Given the description of an element on the screen output the (x, y) to click on. 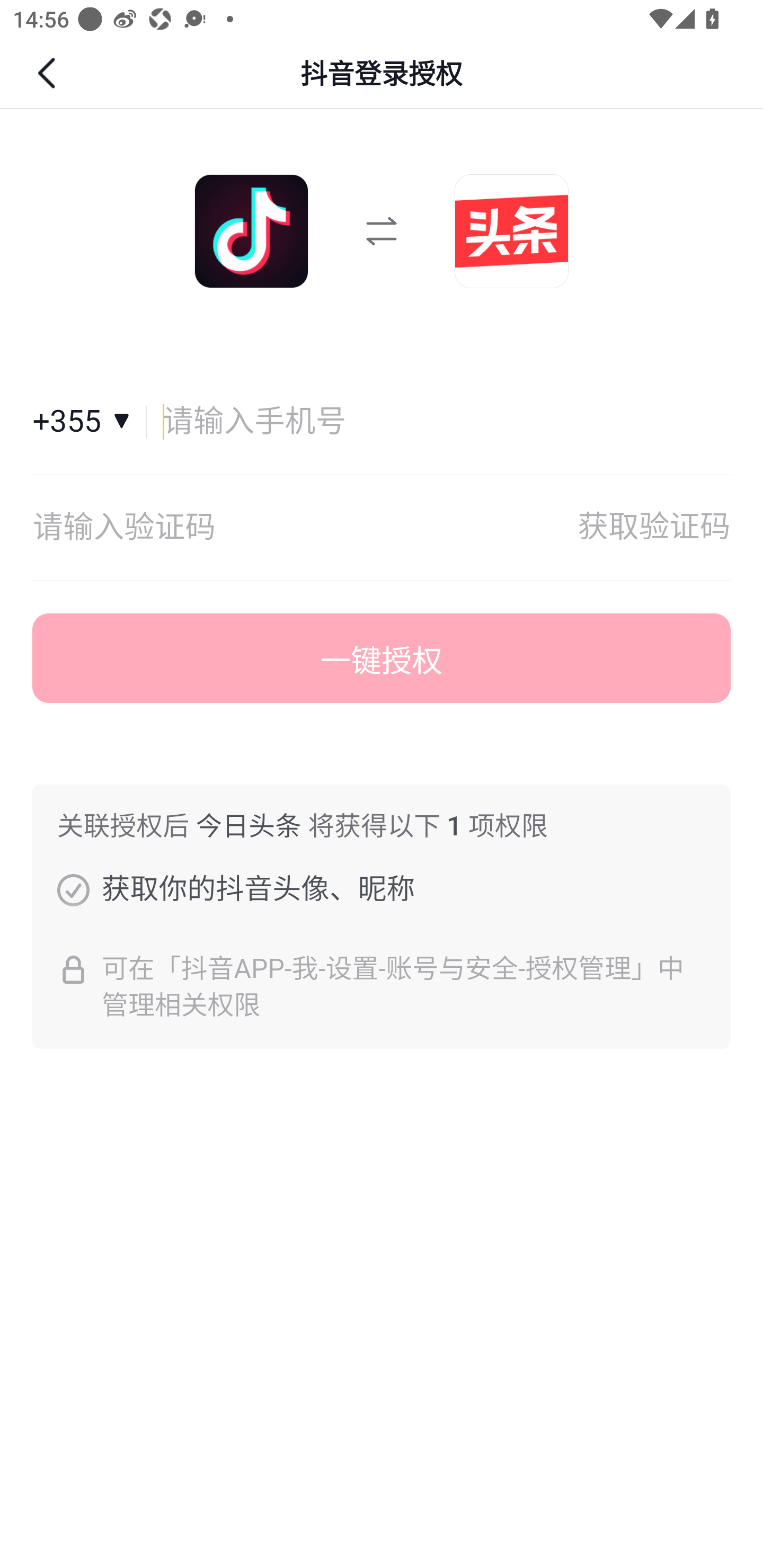
返回 (49, 72)
国家和地区+355 (90, 421)
获取验证码 (653, 527)
一键授权 (381, 658)
获取你的抖音头像、昵称 (72, 889)
